Given the description of an element on the screen output the (x, y) to click on. 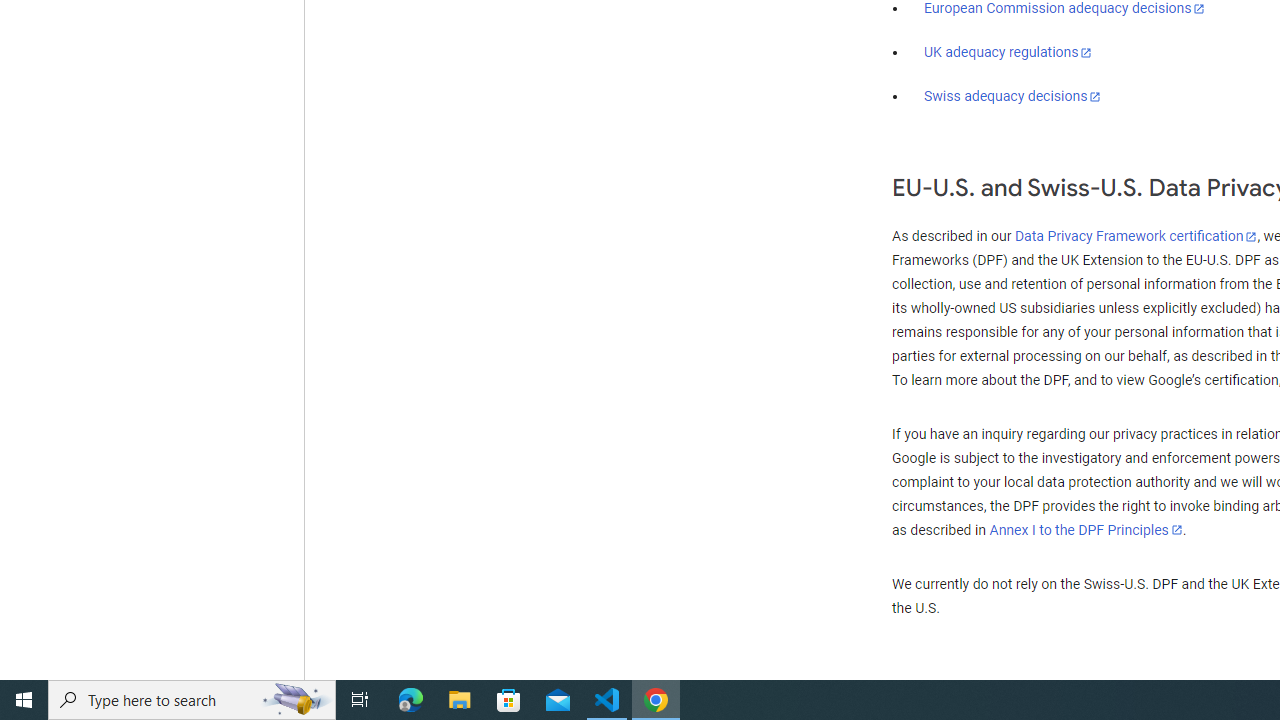
Swiss adequacy decisions (1013, 96)
Annex I to the DPF Principles (1085, 530)
Data Privacy Framework certification (1135, 237)
European Commission adequacy decisions (1064, 9)
UK adequacy regulations (1008, 52)
